Given the description of an element on the screen output the (x, y) to click on. 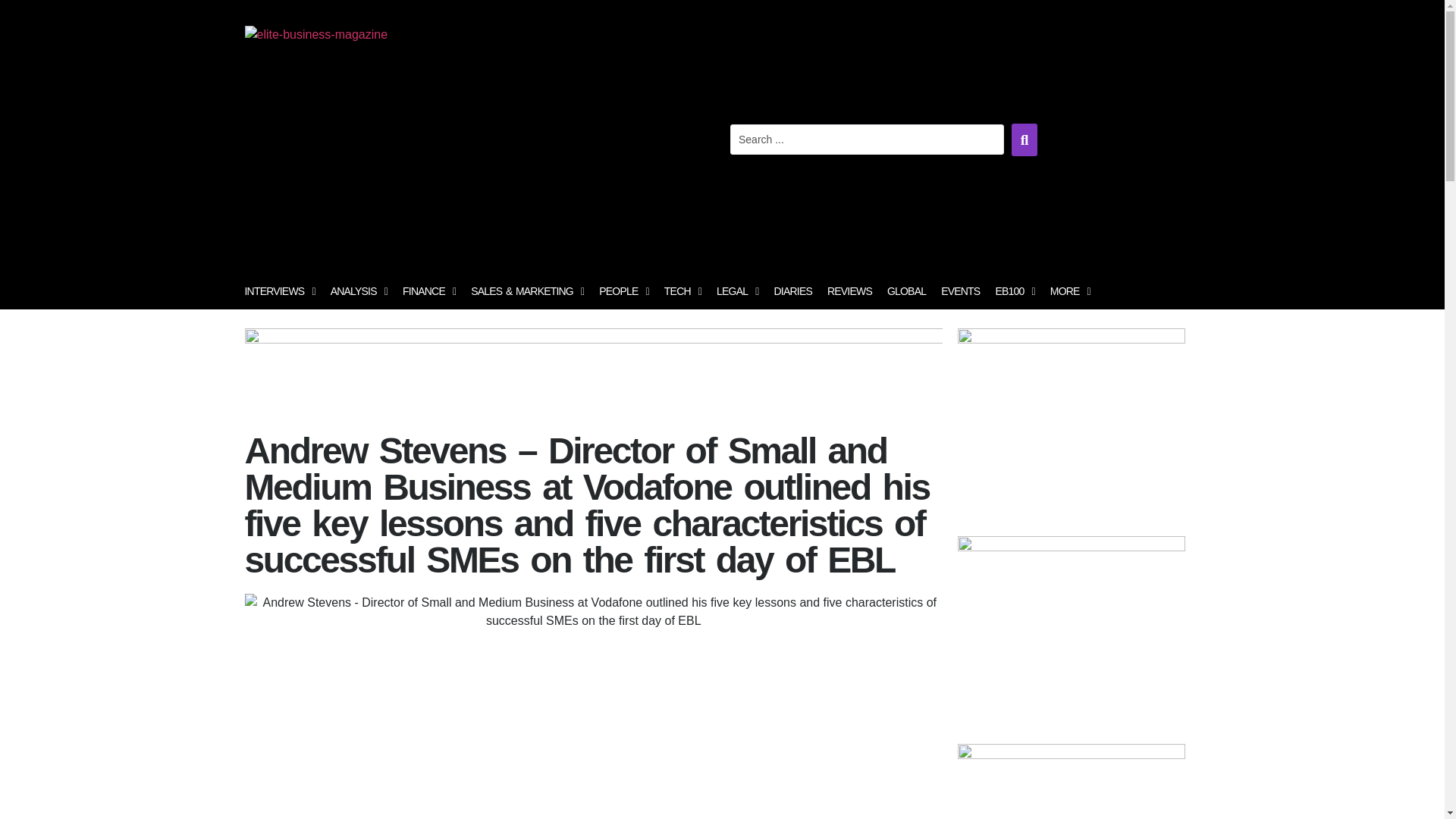
FINANCE (428, 291)
PEOPLE (623, 291)
INTERVIEWS (278, 291)
TECH (682, 291)
ANALYSIS (358, 291)
